Given the description of an element on the screen output the (x, y) to click on. 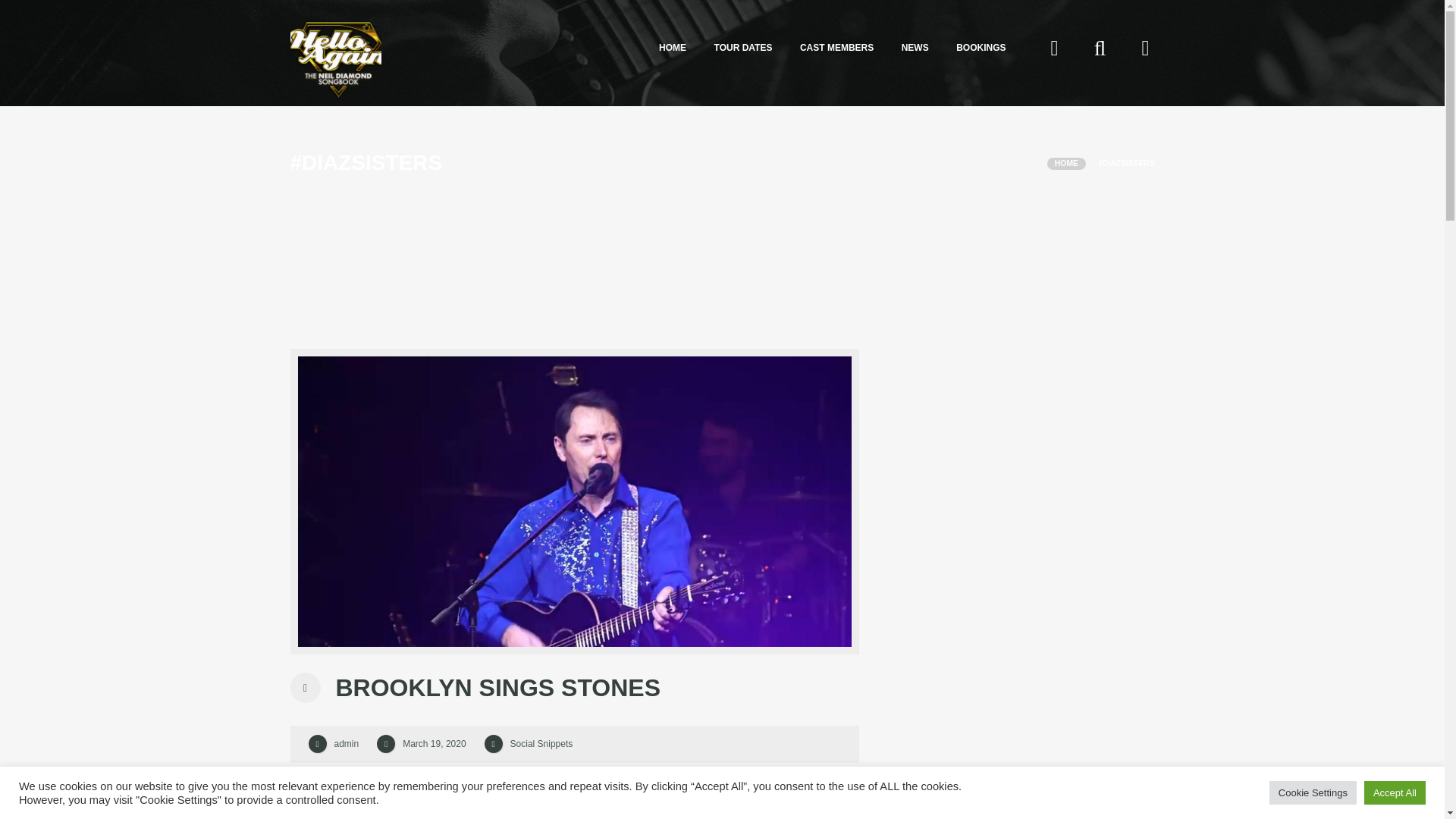
Brooklyn Sings Stones (434, 743)
TOUR DATES (742, 47)
HOME (672, 47)
CAST MEMBERS (836, 47)
